Given the description of an element on the screen output the (x, y) to click on. 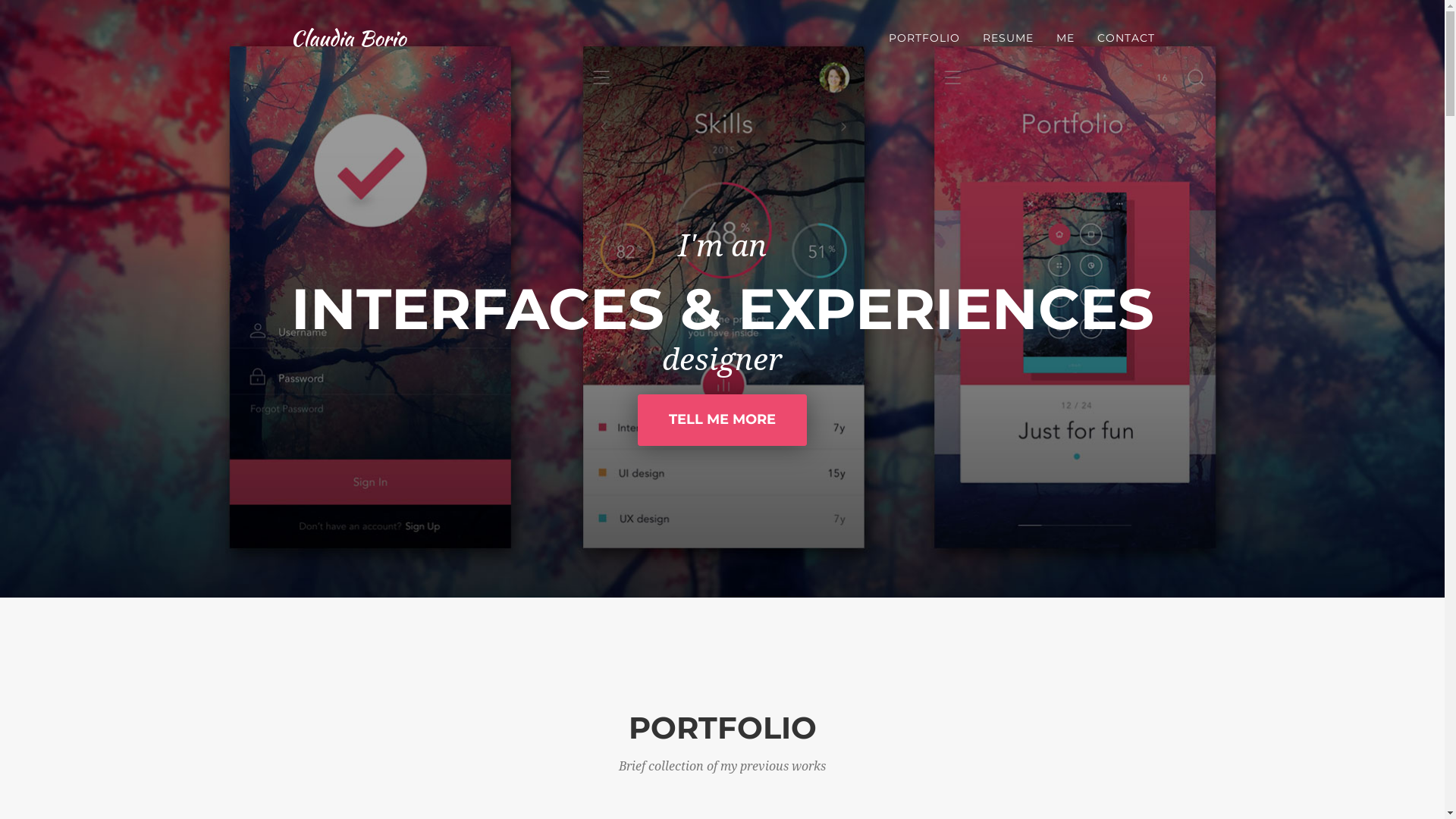
RESUME Element type: text (1007, 37)
PORTFOLIO Element type: text (923, 37)
ME Element type: text (1064, 37)
CONTACT Element type: text (1125, 37)
Claudia Borio Element type: text (348, 37)
TELL ME MORE Element type: text (721, 419)
